Given the description of an element on the screen output the (x, y) to click on. 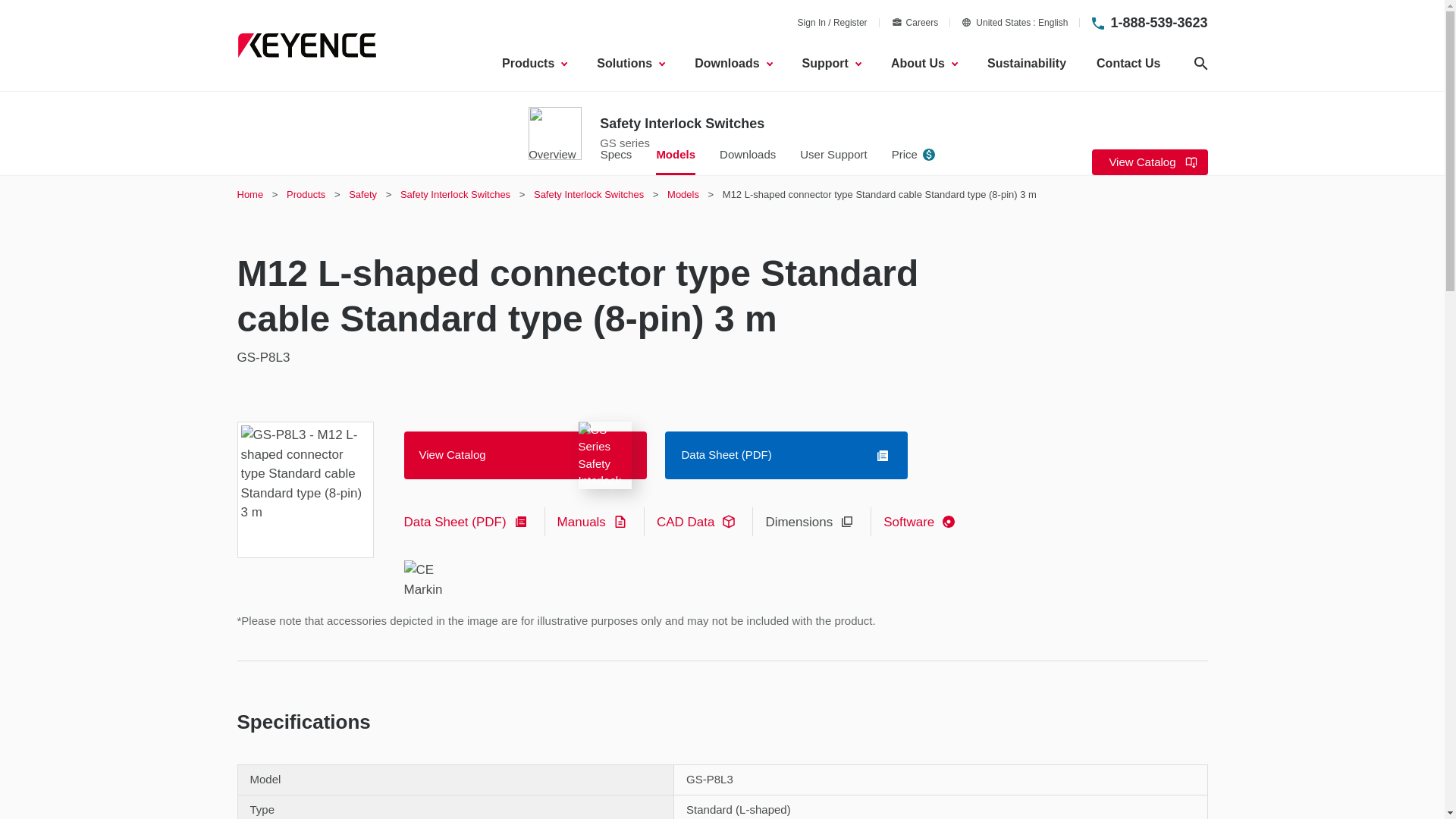
Products (1014, 22)
1-888-539-3623 (534, 63)
Careers (1158, 22)
